Given the description of an element on the screen output the (x, y) to click on. 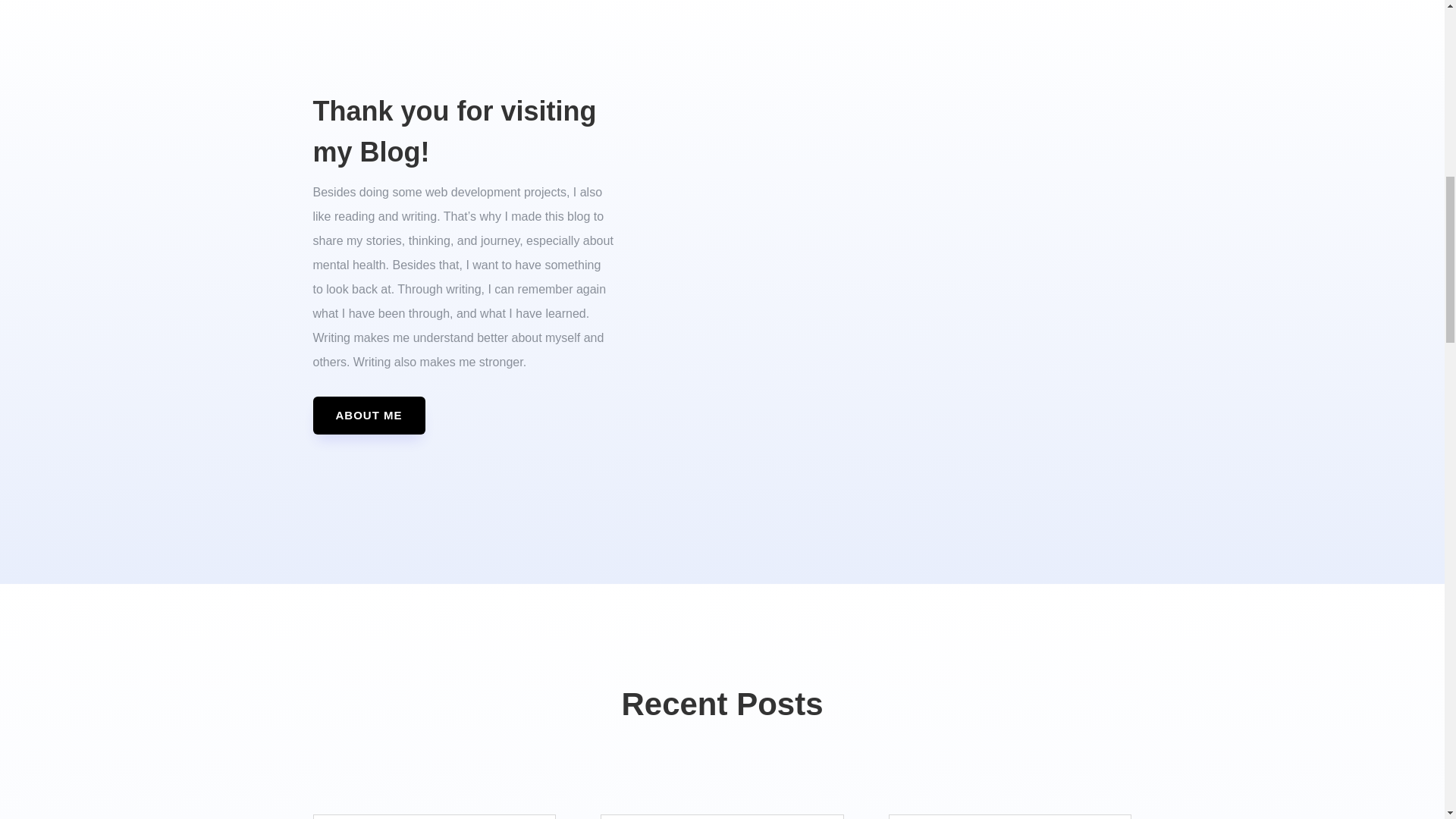
ABOUT ME (369, 415)
